Given the description of an element on the screen output the (x, y) to click on. 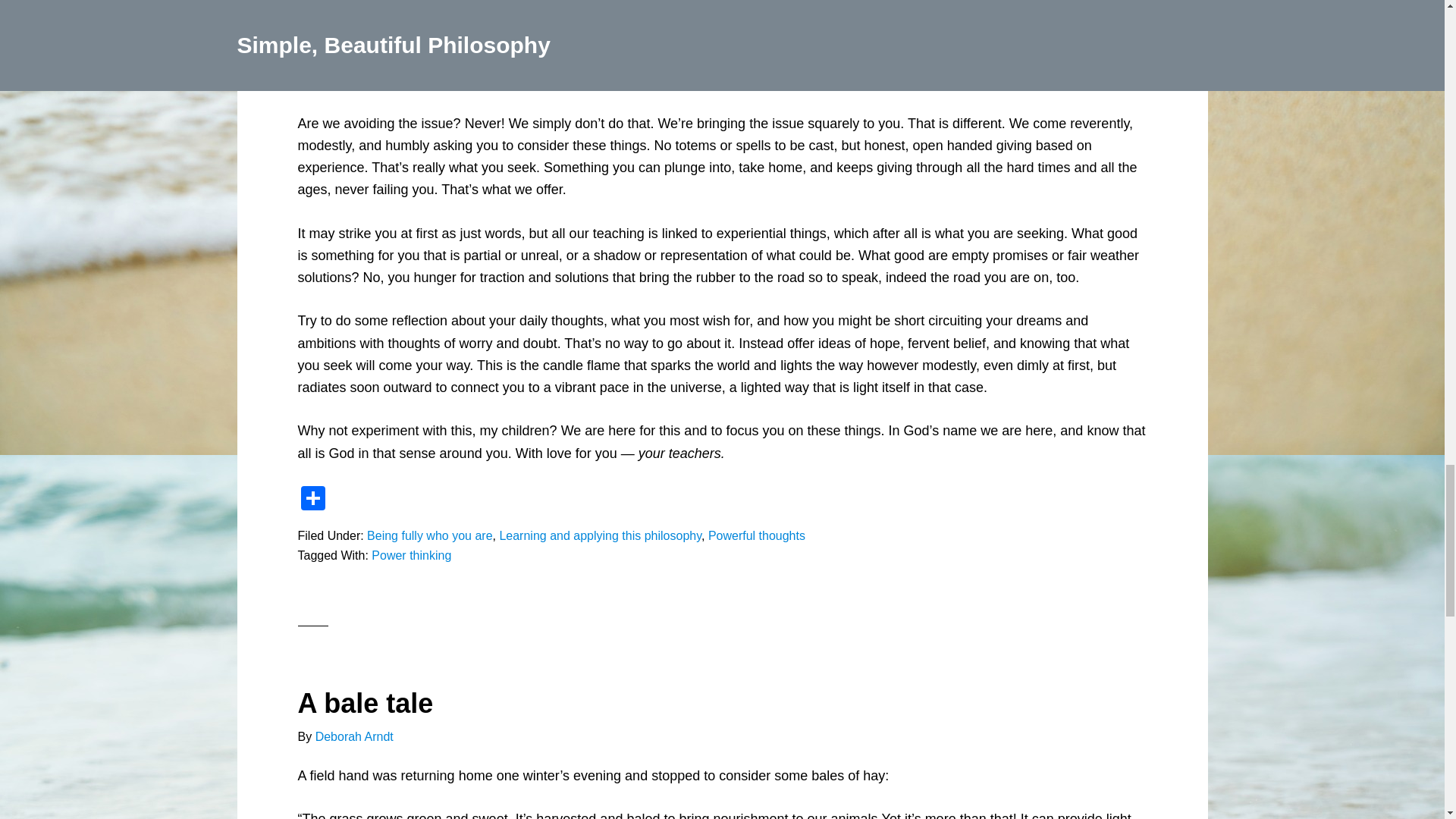
Share (312, 500)
A bale tale (364, 703)
Learning and applying this philosophy (600, 535)
Power thinking (411, 554)
Deborah Arndt (354, 736)
Powerful thoughts (756, 535)
Being fully who you are (429, 535)
